Given the description of an element on the screen output the (x, y) to click on. 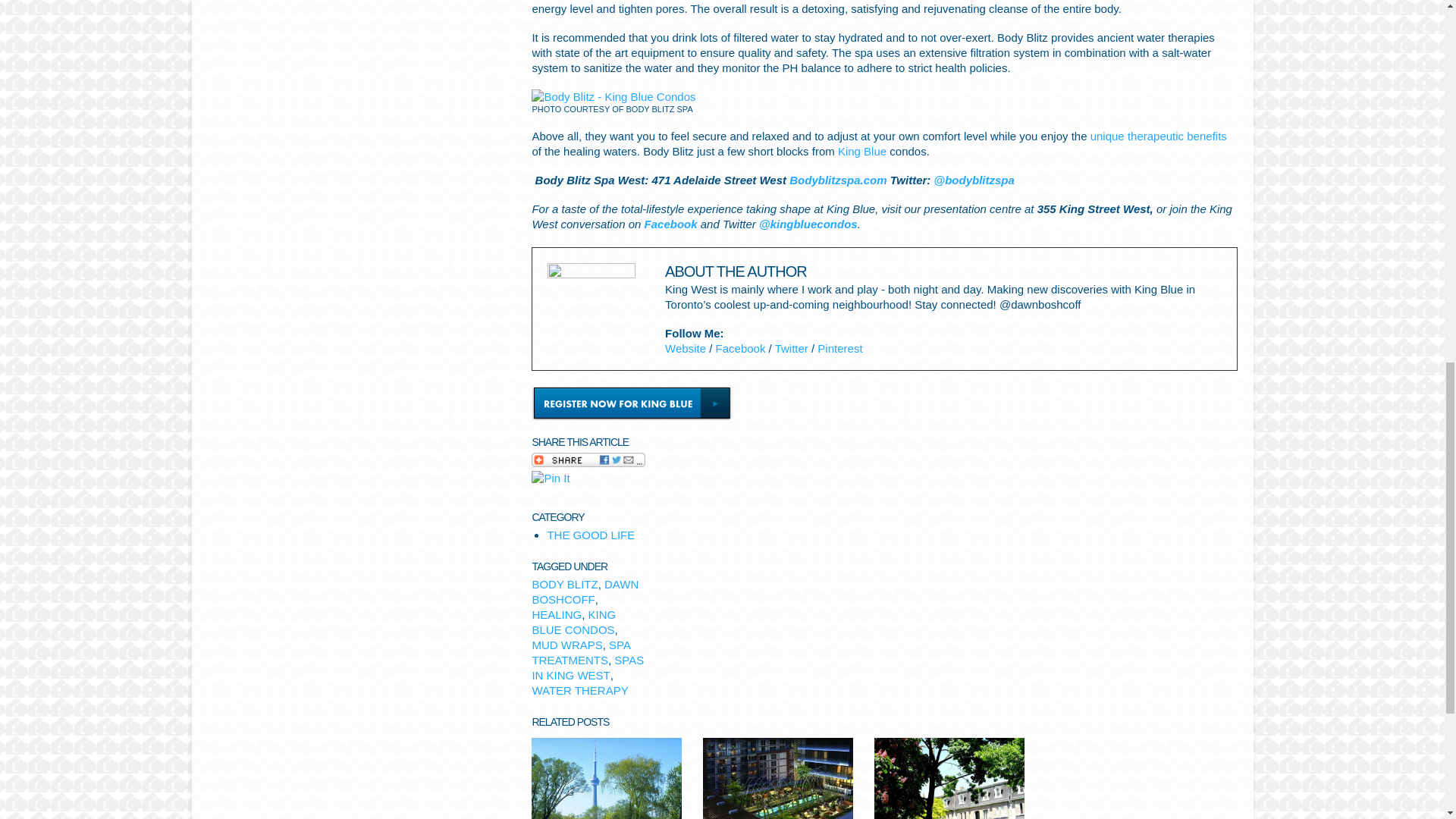
Website (685, 347)
Register for King Blue Condominiums (631, 401)
Pinterest (838, 347)
Pin It (550, 478)
Twitter (791, 347)
Facebook (740, 347)
Bodyblitzspa.com (837, 178)
Body Blitz Spa West Toronto  (613, 96)
Facebook (671, 223)
King Blue (862, 150)
unique therapeutic benefits (1158, 134)
